Given the description of an element on the screen output the (x, y) to click on. 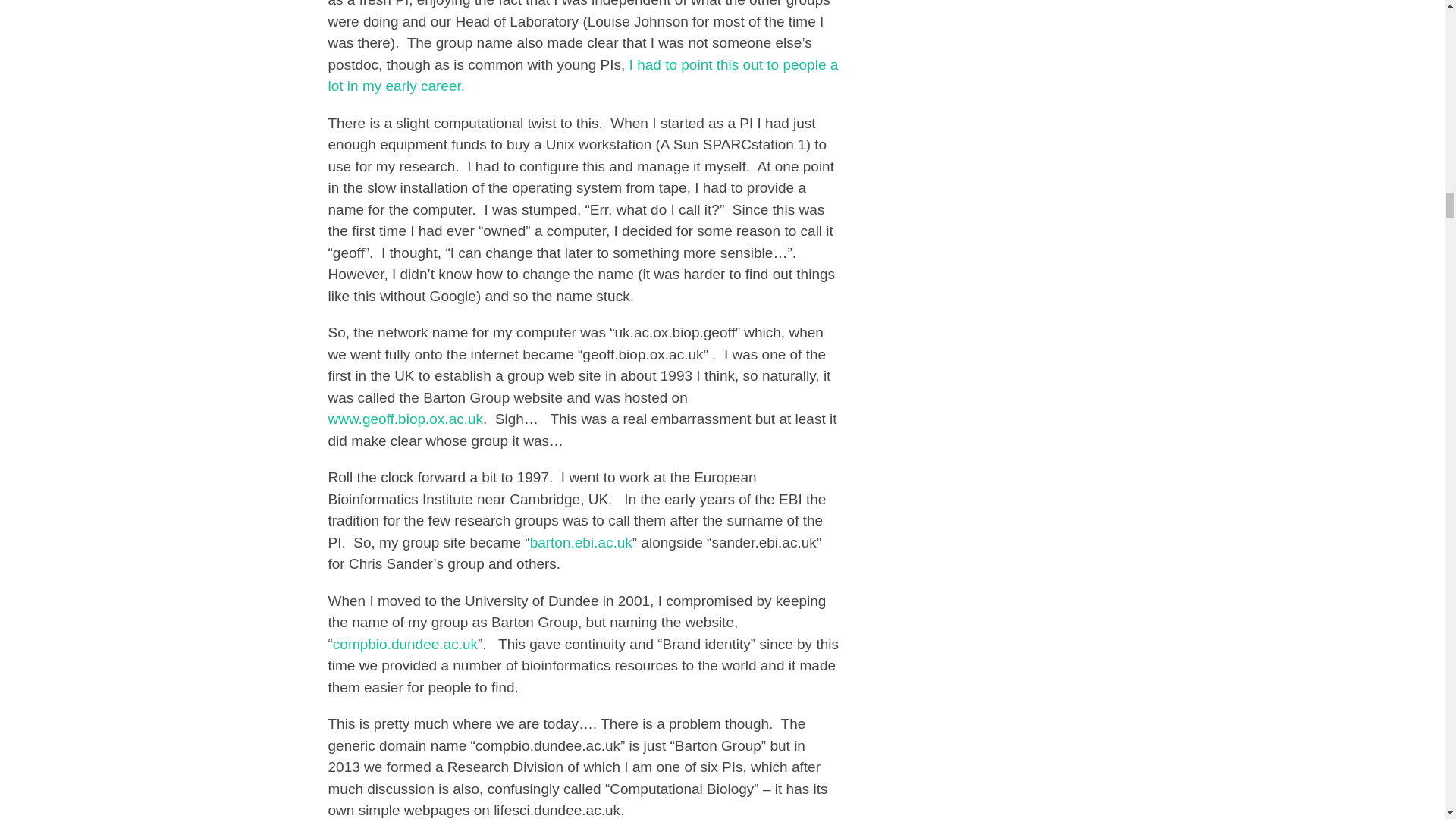
I had to point this out to people a lot in my early career. (582, 75)
compbio.dundee.ac.uk (405, 643)
www.geoff.biop.ox.ac.uk (405, 418)
barton.ebi.ac.uk (580, 542)
